Given the description of an element on the screen output the (x, y) to click on. 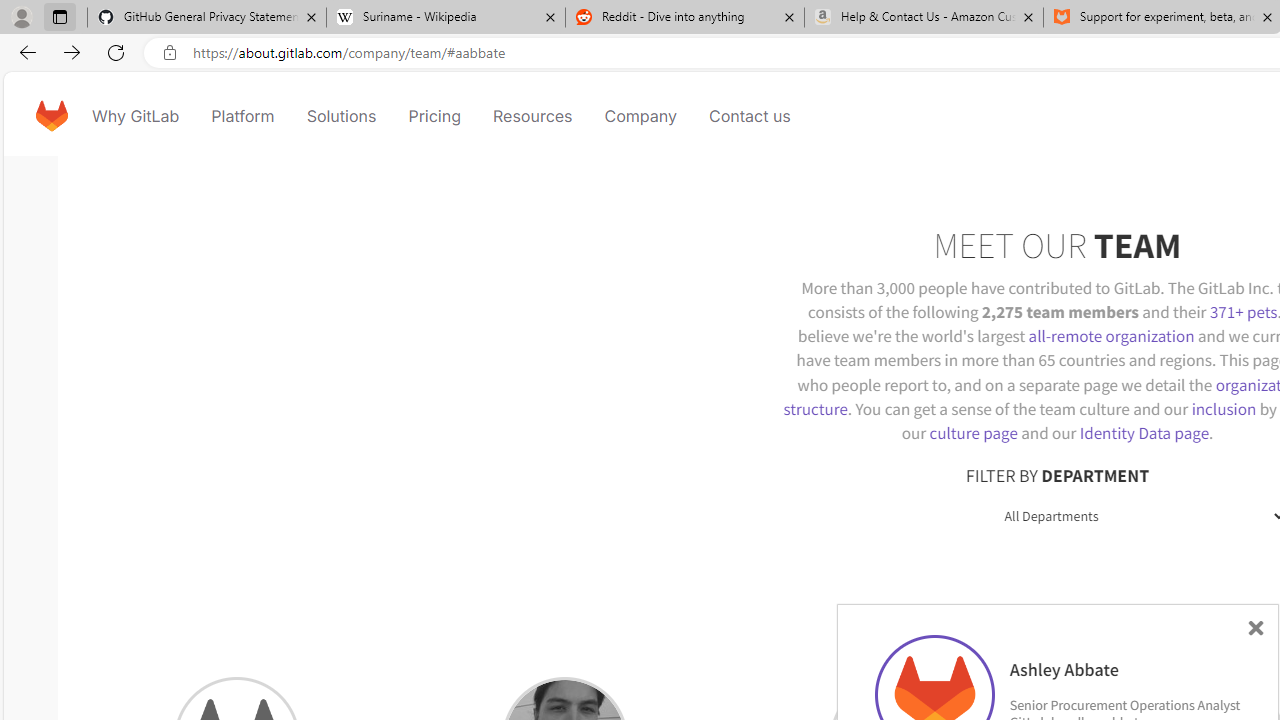
Pricing (433, 115)
Contact us (749, 115)
Why GitLab (136, 115)
